Given the description of an element on the screen output the (x, y) to click on. 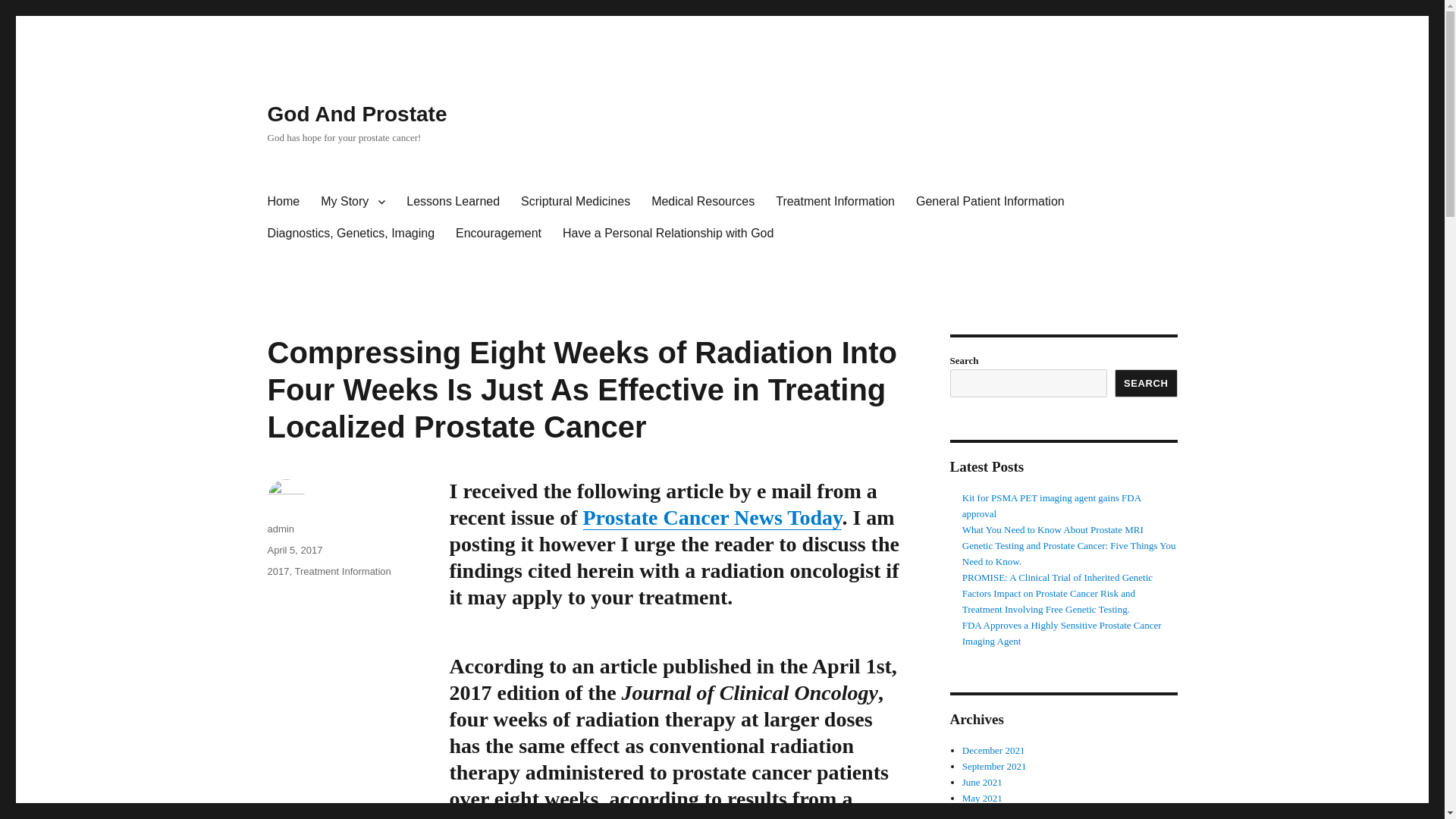
April 5, 2017 (293, 550)
My Story (353, 201)
Home (283, 201)
Scriptural Medicines (575, 201)
Diagnostics, Genetics, Imaging (350, 233)
General Patient Information (990, 201)
December 2021 (993, 749)
Treatment Information (342, 571)
Have a Personal Relationship with God (667, 233)
God And Prostate (356, 114)
